Given the description of an element on the screen output the (x, y) to click on. 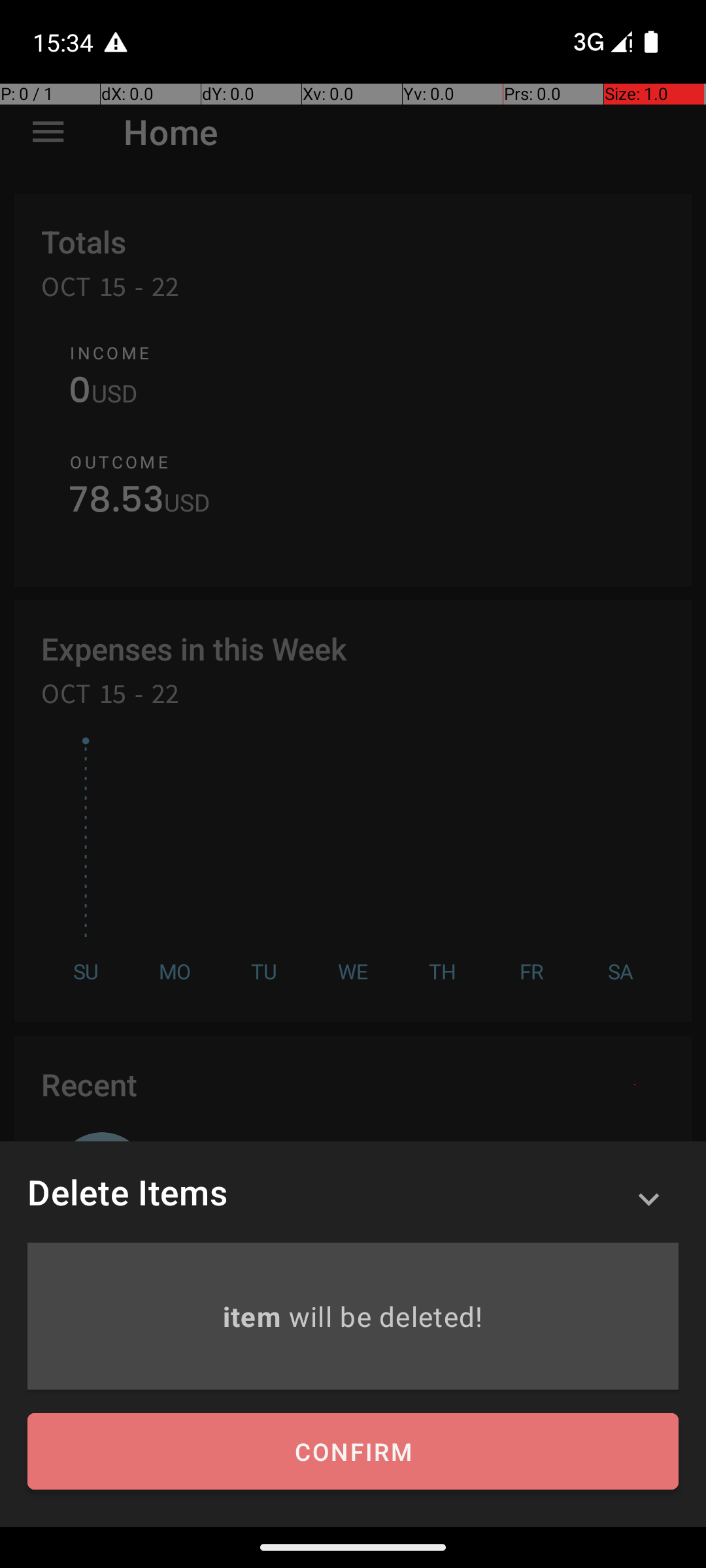
Delete Items Element type: android.widget.TextView (127, 1191)
item  Element type: android.widget.TextView (255, 1315)
will be deleted! Element type: android.widget.TextView (385, 1315)
CONFIRM Element type: android.widget.Button (352, 1451)
